Given the description of an element on the screen output the (x, y) to click on. 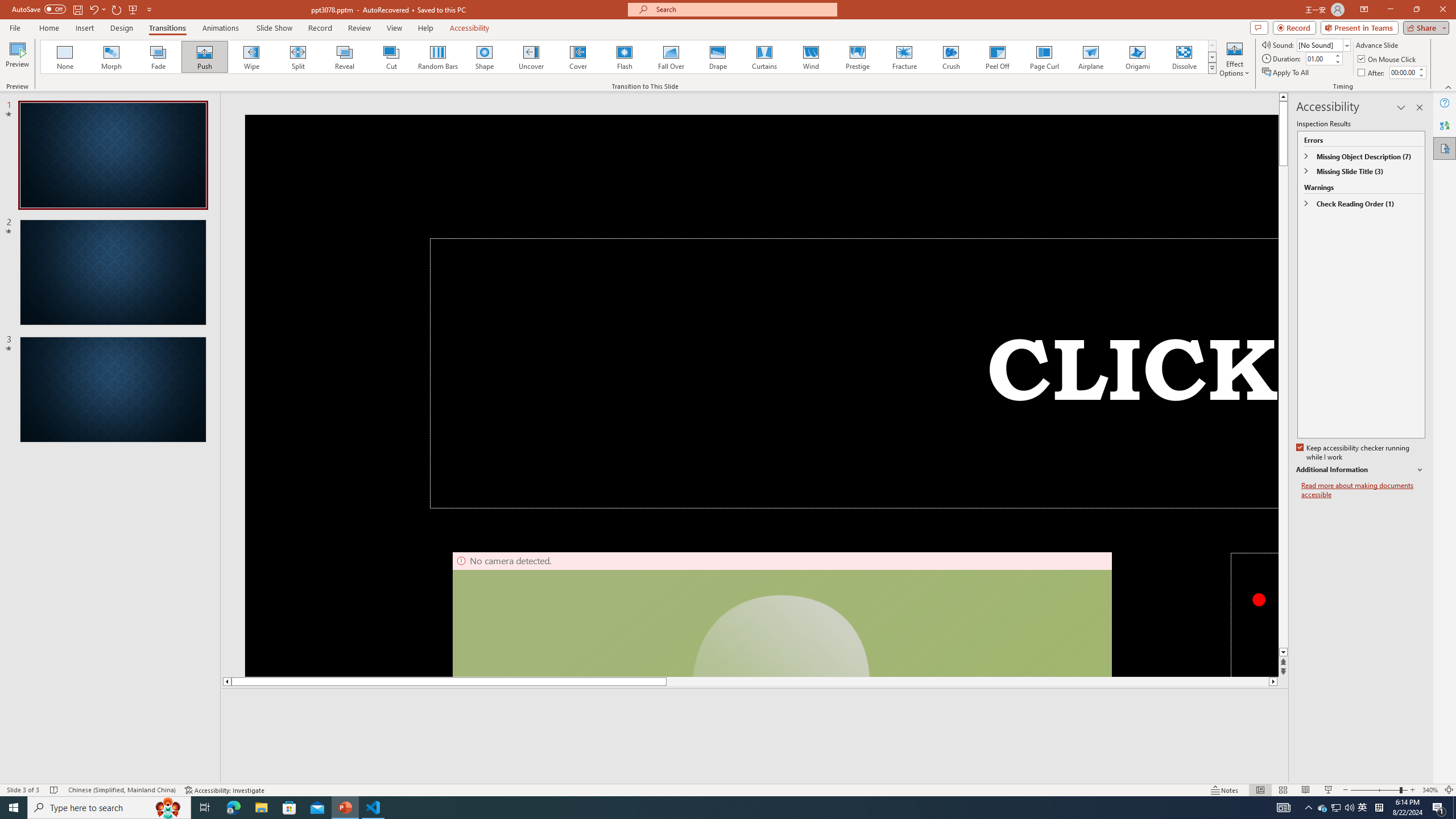
AutomationID: AnimationTransitionGallery (628, 56)
Duration (1319, 58)
Crush (950, 56)
Transition Effects (1212, 67)
Cover (577, 56)
